Given the description of an element on the screen output the (x, y) to click on. 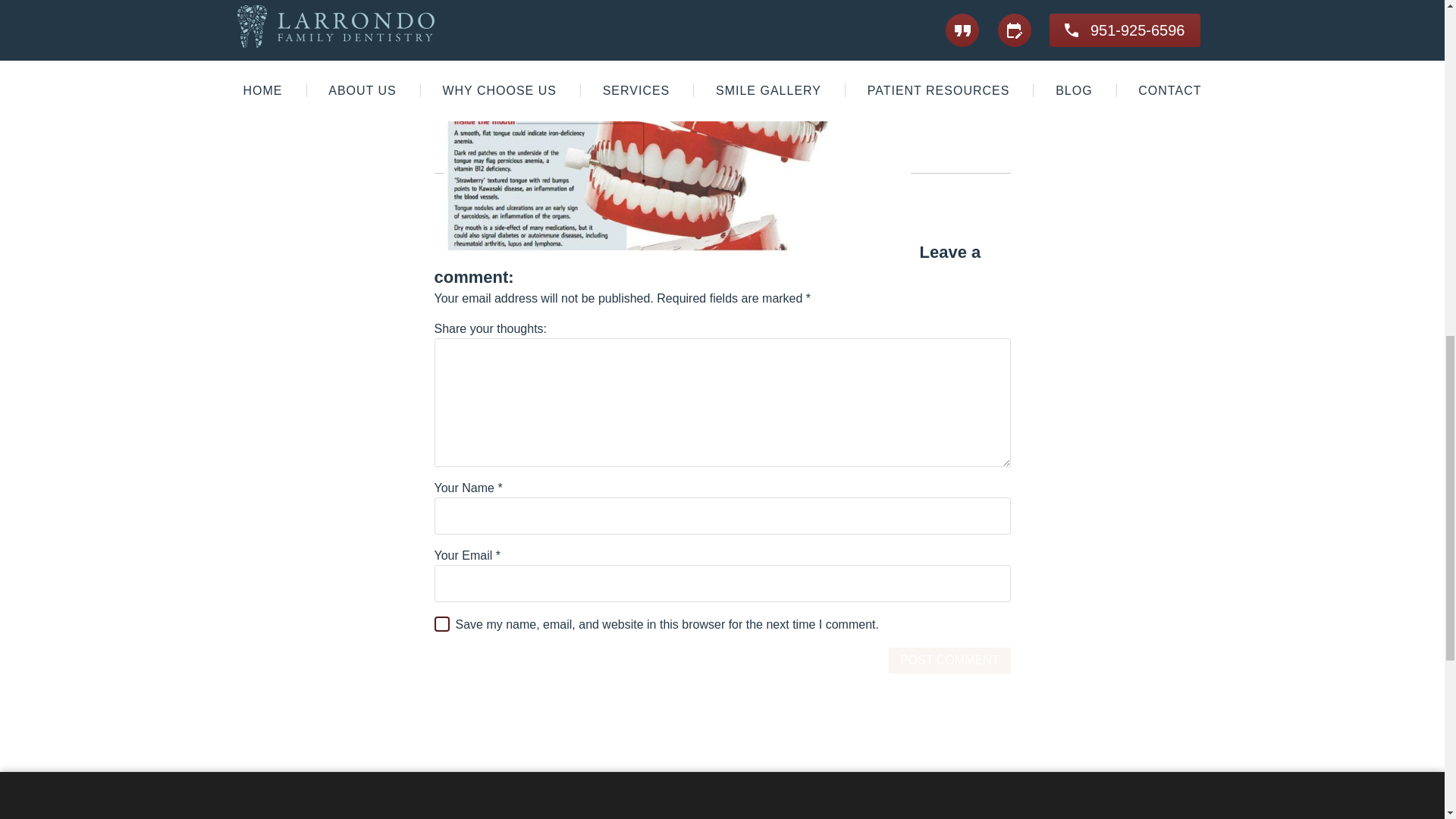
Post Comment (949, 660)
Post Comment (949, 660)
ifteethcouldtalk (675, 131)
